Given the description of an element on the screen output the (x, y) to click on. 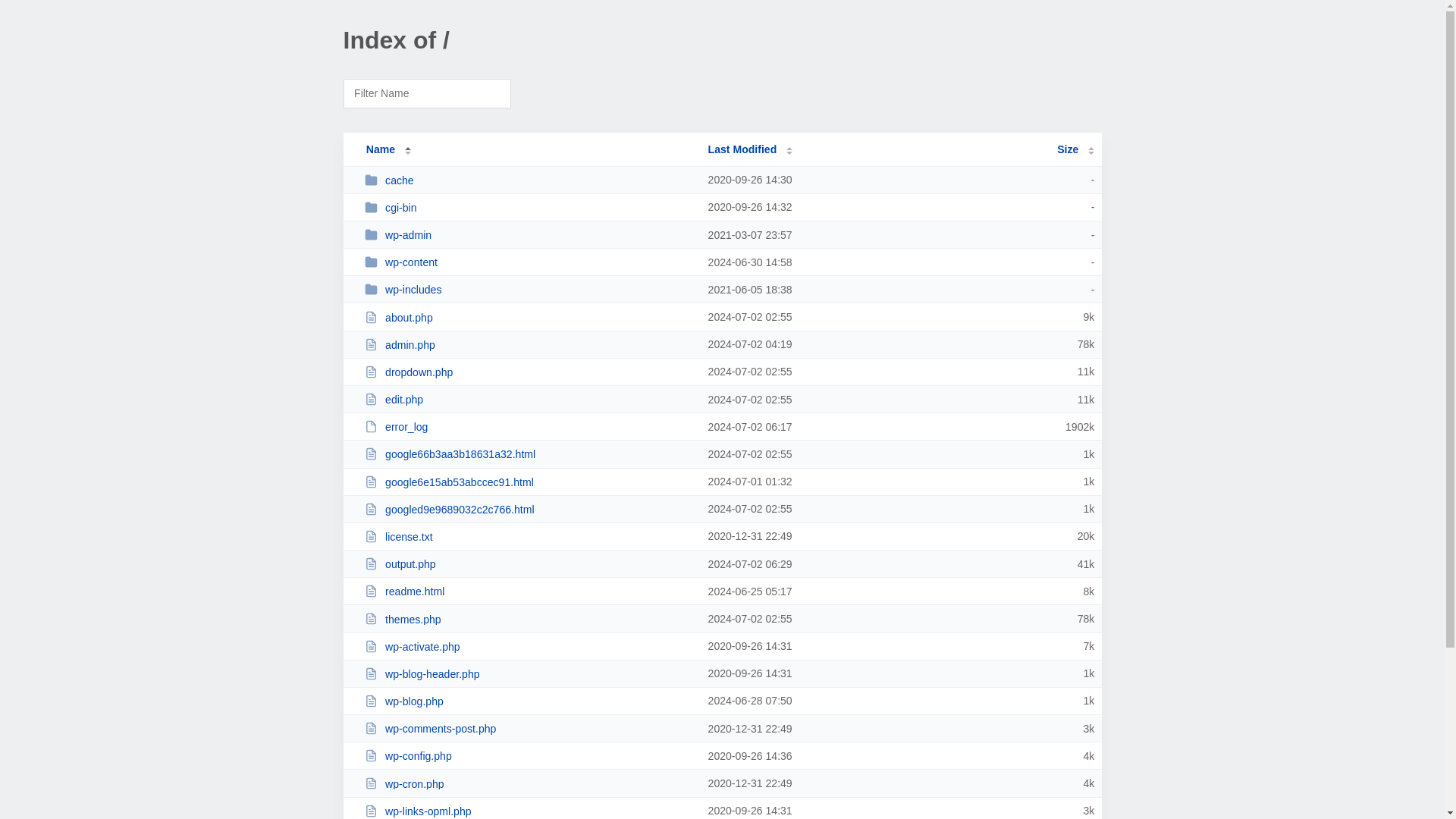
wp-content (529, 261)
edit.php (529, 399)
about.php (529, 317)
wp-cron.php (529, 783)
wp-activate.php (529, 645)
readme.html (529, 590)
cgi-bin (529, 206)
wp-admin (529, 234)
google66b3aa3b18631a32.html (529, 453)
wp-includes (529, 288)
wp-blog-header.php (529, 673)
Size (1075, 149)
dropdown.php (529, 371)
output.php (529, 563)
license.txt (529, 535)
